Given the description of an element on the screen output the (x, y) to click on. 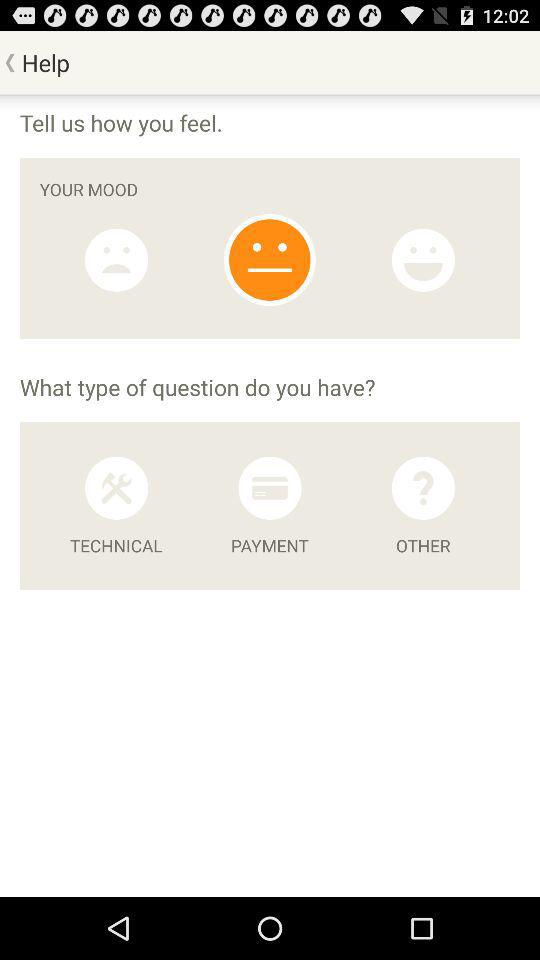
select sad mood (116, 260)
